Given the description of an element on the screen output the (x, y) to click on. 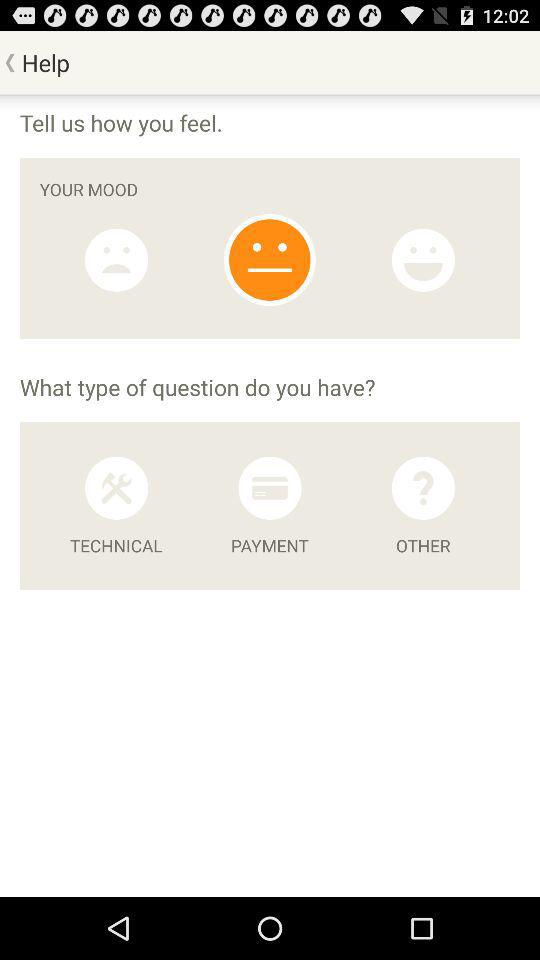
select sad mood (116, 260)
